Given the description of an element on the screen output the (x, y) to click on. 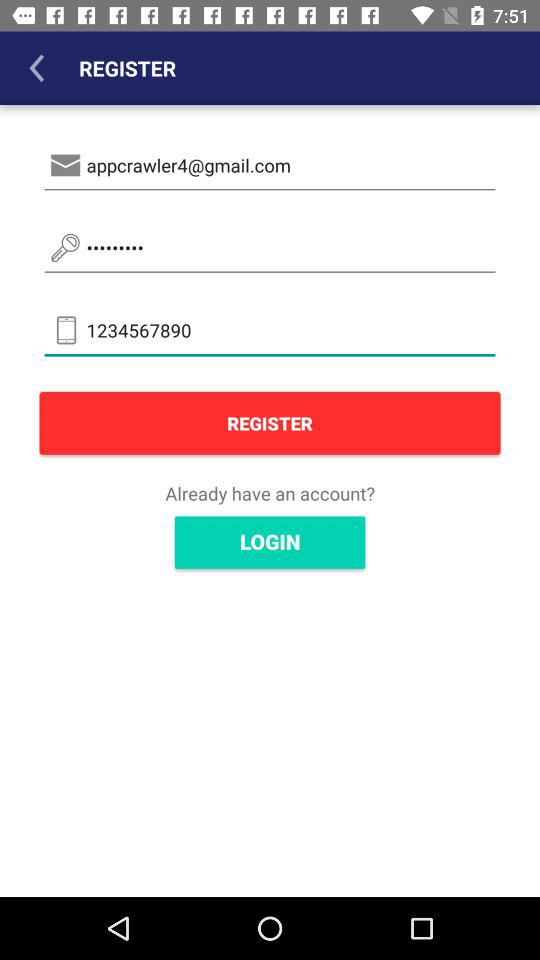
choose icon below crowd3116 item (269, 330)
